Given the description of an element on the screen output the (x, y) to click on. 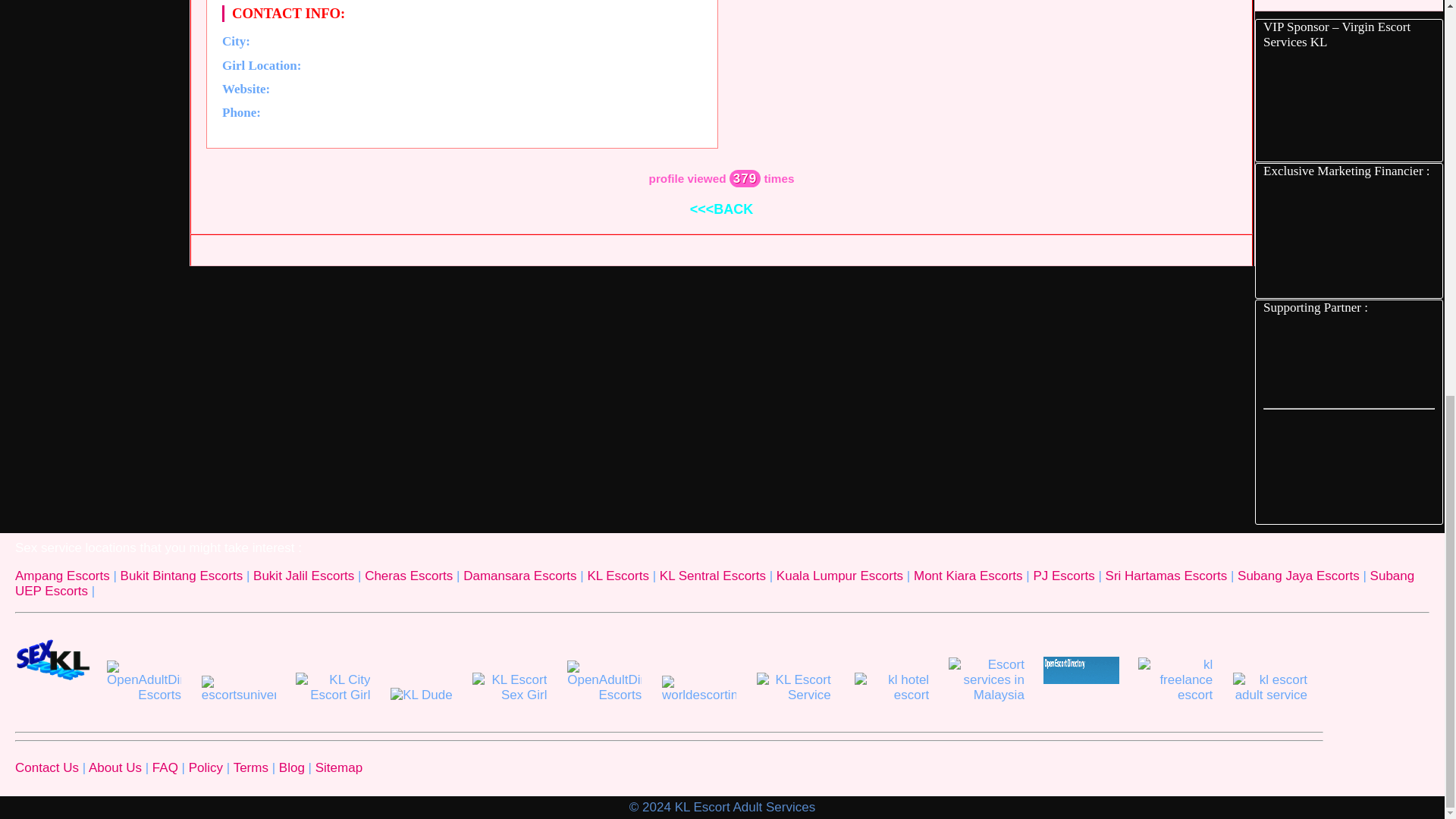
kl sex service escort (1348, 238)
escortsuniversal.com  (238, 688)
kl escort listing portal (1348, 466)
kl escort girl agency (1348, 105)
Selangor (486, 64)
kl sex service (52, 660)
kl escort girl directory (1348, 361)
Selangor (486, 64)
OpenAdultDirectory.com Escorts  (144, 681)
